Given the description of an element on the screen output the (x, y) to click on. 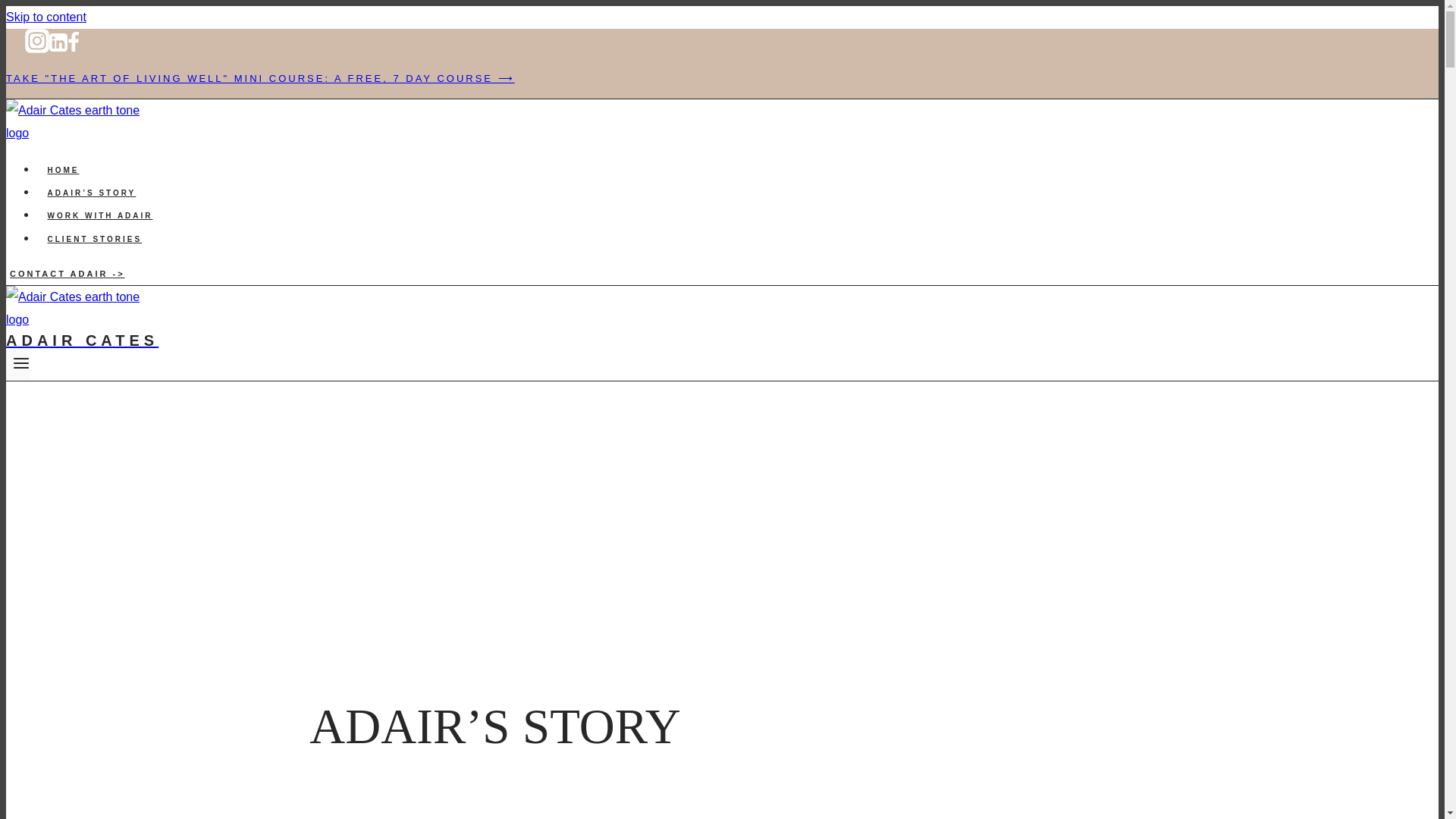
TOGGLE MENU (17, 364)
TOGGLE MENU (20, 362)
ADAIR CATES (494, 330)
Facebook (73, 42)
CLIENT STORIES (94, 239)
WORK WITH ADAIR (99, 215)
HOME (63, 169)
Instagram (36, 49)
Facebook (73, 49)
Linkedin (57, 49)
Skip to content (45, 16)
Instagram (36, 40)
Skip to content (45, 16)
Linkedin (57, 42)
